Given the description of an element on the screen output the (x, y) to click on. 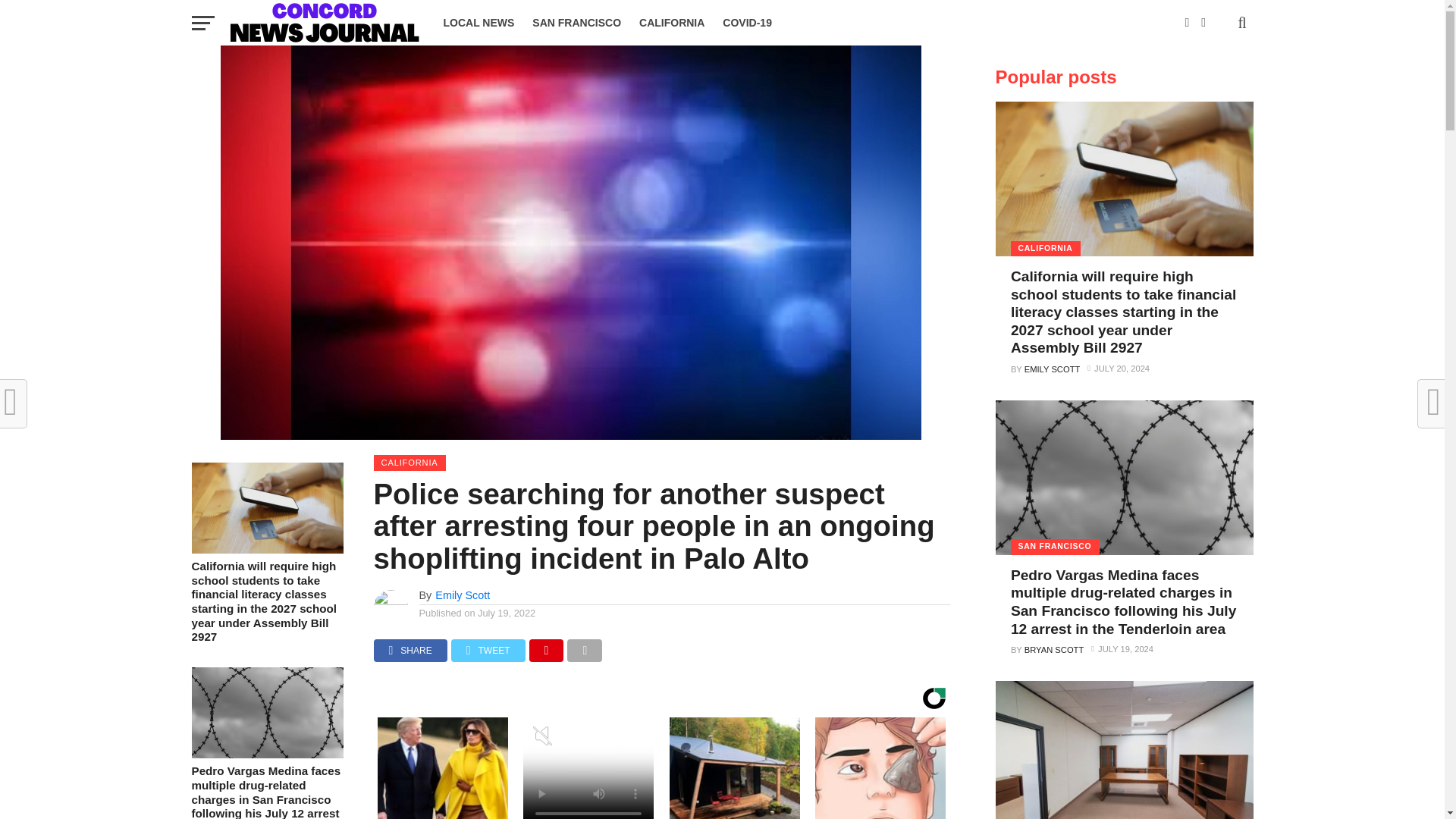
COVID-19 (746, 22)
Posts by Emily Scott (462, 594)
Emily Scott (462, 594)
CALIFORNIA (671, 22)
SAN FRANCISCO (576, 22)
LOCAL NEWS (477, 22)
